Given the description of an element on the screen output the (x, y) to click on. 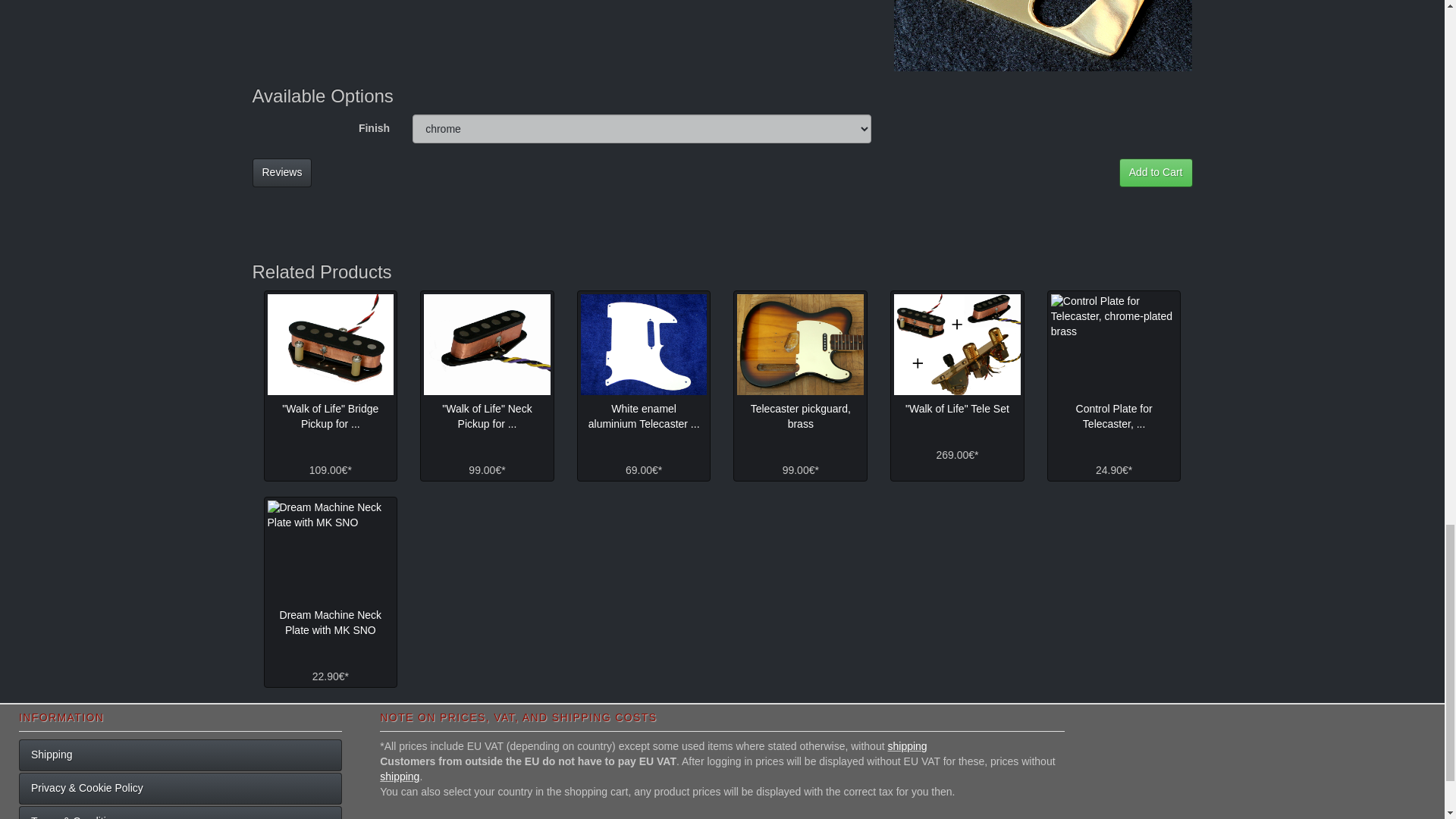
"Walk of Life" Bridge Pickup for ... (330, 415)
Dream Machine Neck Plate with MK SNO (329, 550)
"Walk of Life" Neck Pickup for ... (486, 415)
Reviews (281, 172)
Add to Cart (1155, 172)
White enamel aluminium Telecaster pickguard (643, 344)
Telecaster pickguard, brass (799, 344)
"Walk of Life" Tele Set (956, 344)
